Given the description of an element on the screen output the (x, y) to click on. 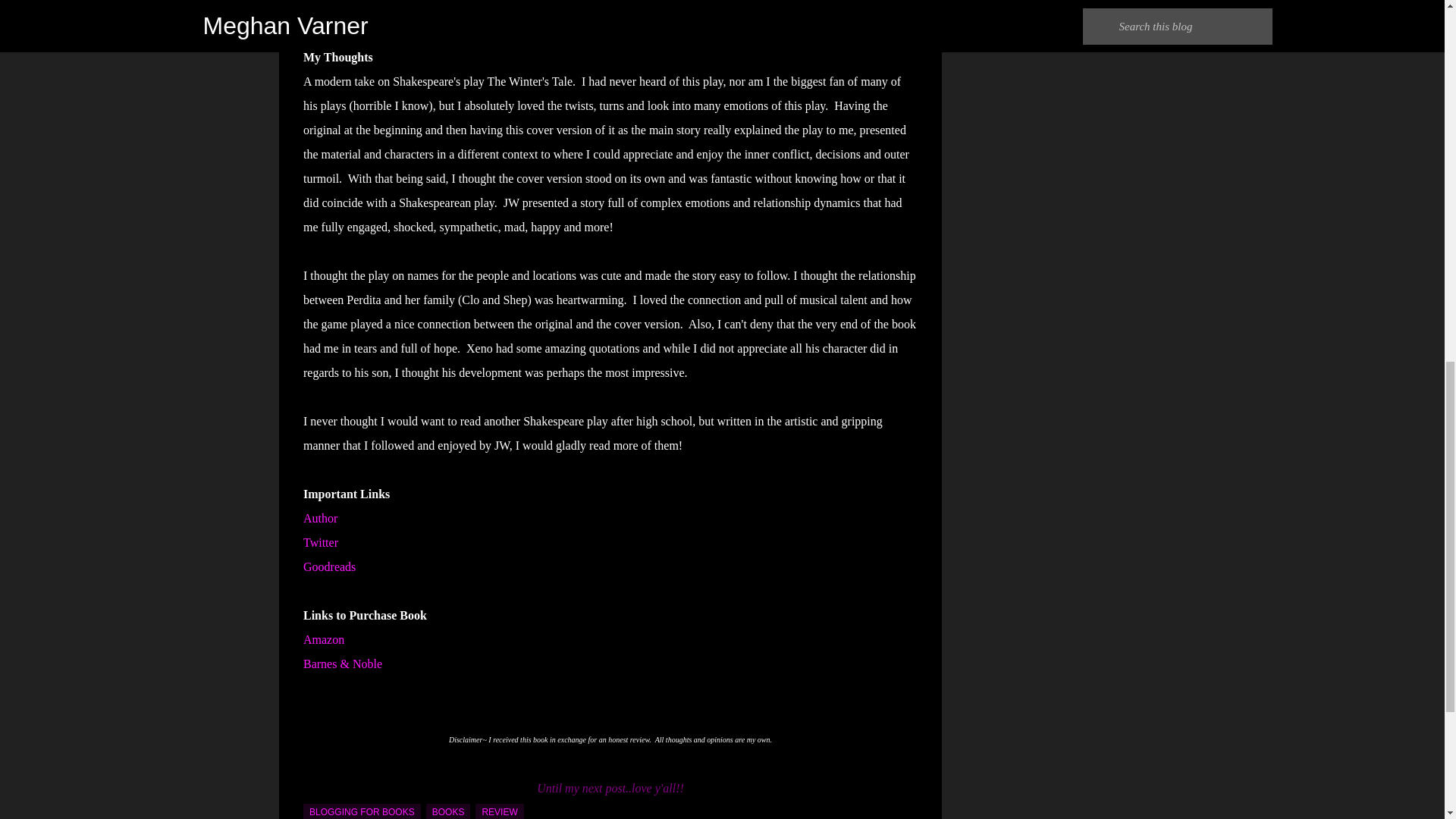
Twitter (319, 542)
BLOGGING FOR BOOKS (361, 811)
Author (319, 517)
BOOKS (448, 811)
REVIEW (499, 811)
Amazon (322, 639)
Goodreads (328, 566)
